Given the description of an element on the screen output the (x, y) to click on. 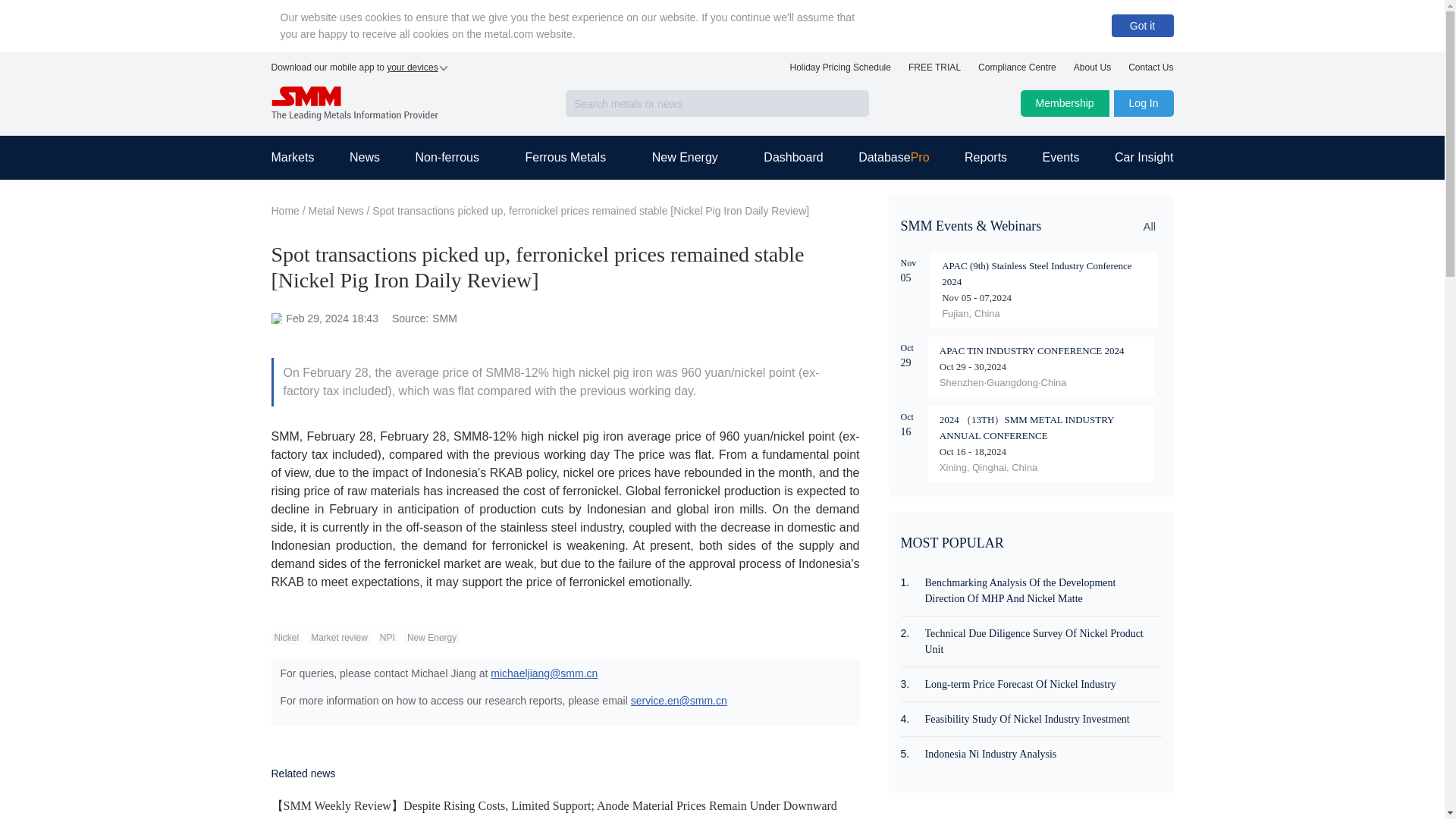
FREE TRIAL (934, 71)
Membership (1064, 103)
Events (1061, 157)
DatabasePro (893, 157)
Contact Us (1150, 71)
Car Insight (1135, 157)
Metal News (336, 210)
News (364, 157)
Compliance Centre (1017, 71)
Reports (986, 157)
Dashboard (792, 157)
About Us (1092, 71)
Log In (1143, 103)
Markets (300, 157)
Home (284, 210)
